Given the description of an element on the screen output the (x, y) to click on. 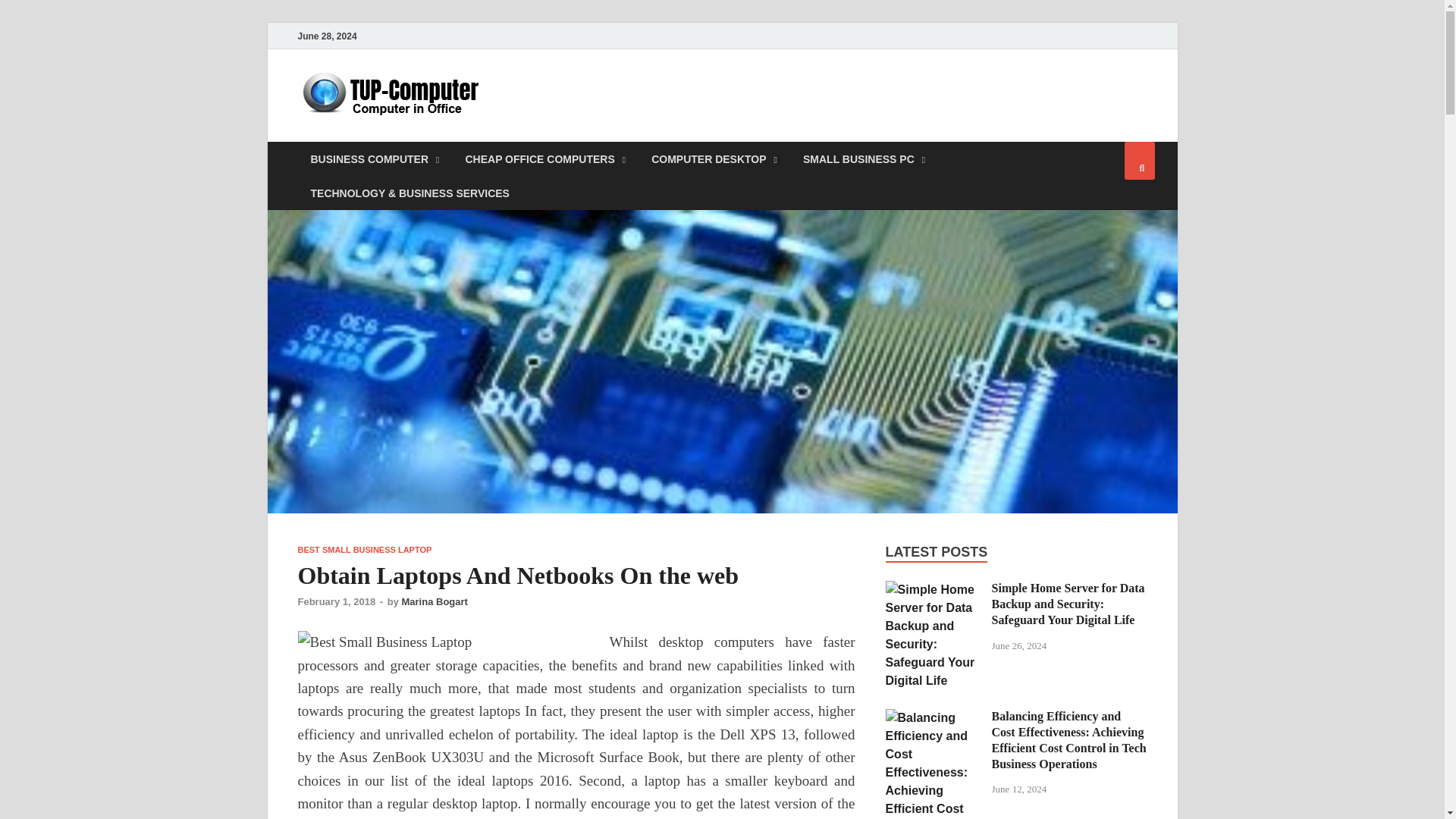
Marina Bogart (434, 601)
February 1, 2018 (336, 601)
CHEAP OFFICE COMPUTERS (545, 158)
BEST SMALL BUSINESS LAPTOP (363, 549)
BUSINESS COMPUTER (374, 158)
COMPUTER DESKTOP (714, 158)
ComputerTUP (587, 100)
SMALL BUSINESS PC (863, 158)
